Given the description of an element on the screen output the (x, y) to click on. 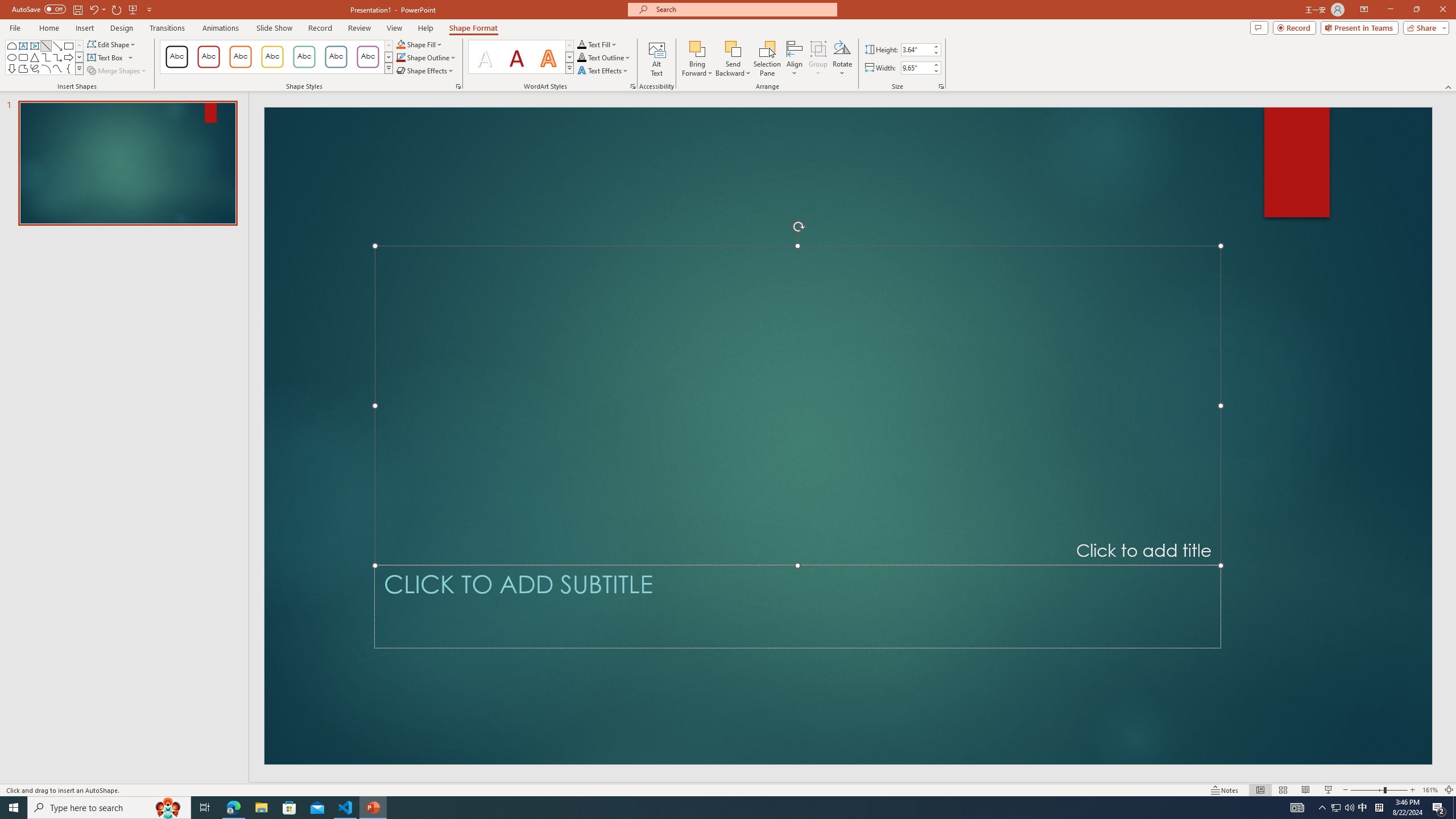
Freeform: Shape (23, 68)
AutomationID: TextStylesGallery (521, 56)
Merge Shapes (117, 69)
Bring Forward (697, 48)
Shape Fill (419, 44)
Colored Outline - Blue-Gray, Accent 5 (336, 56)
